Given the description of an element on the screen output the (x, y) to click on. 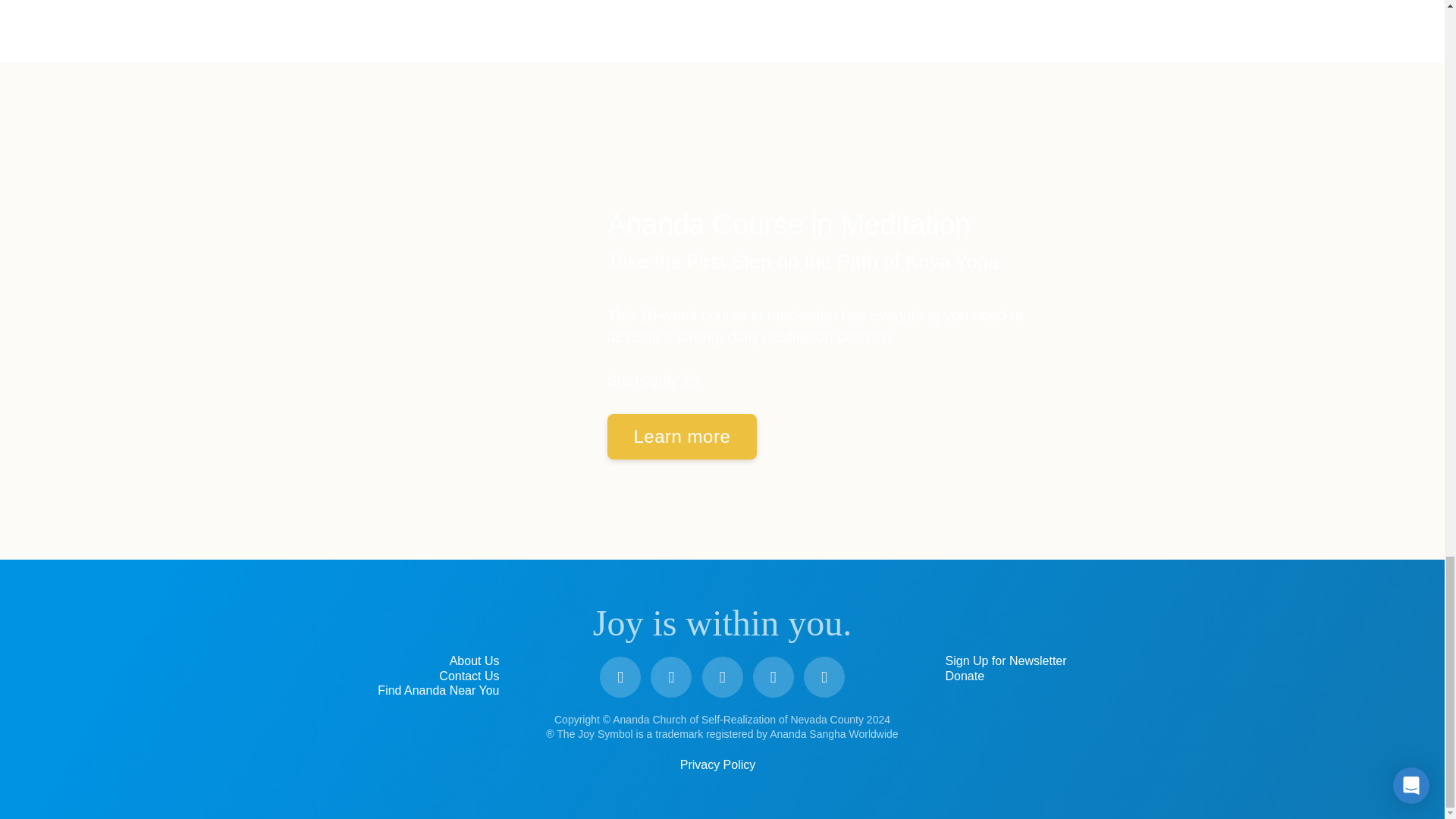
Facebook (619, 676)
YouTube (670, 676)
Pinterest (772, 676)
Instagram (721, 676)
RSS (823, 676)
